Given the description of an element on the screen output the (x, y) to click on. 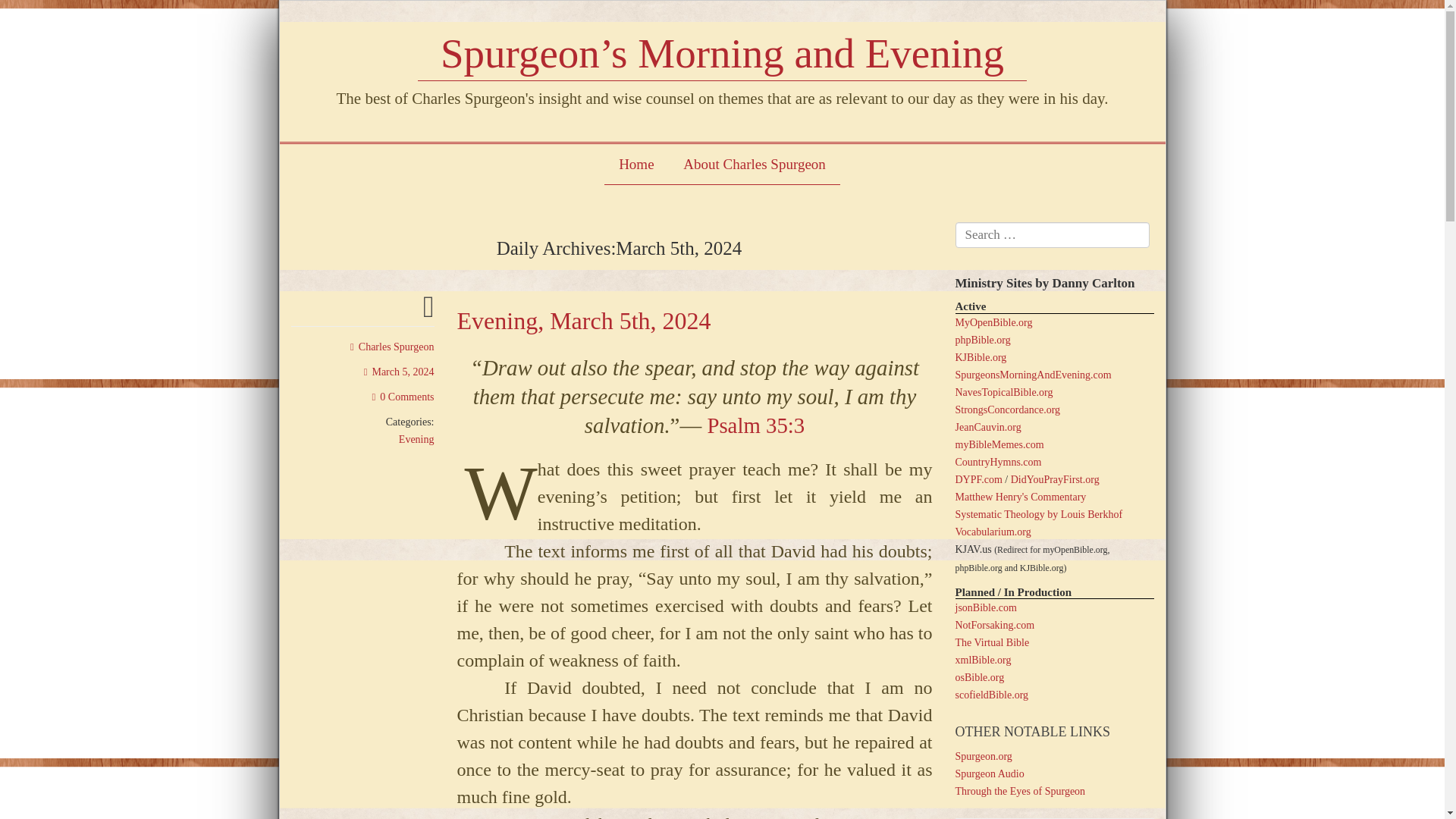
Permalink to Evening, March 5th, 2024 (428, 313)
myBibleMemes.com (999, 444)
Search (24, 13)
Evening (415, 439)
Evening, March 5th, 2024 (583, 320)
SpurgeonsMorningAndEvening.com (1033, 374)
Go to comment section (402, 396)
Psalm 35:3 (753, 425)
Matthew Henry's Commentary (1020, 496)
The Virtual Bible (992, 642)
